Given the description of an element on the screen output the (x, y) to click on. 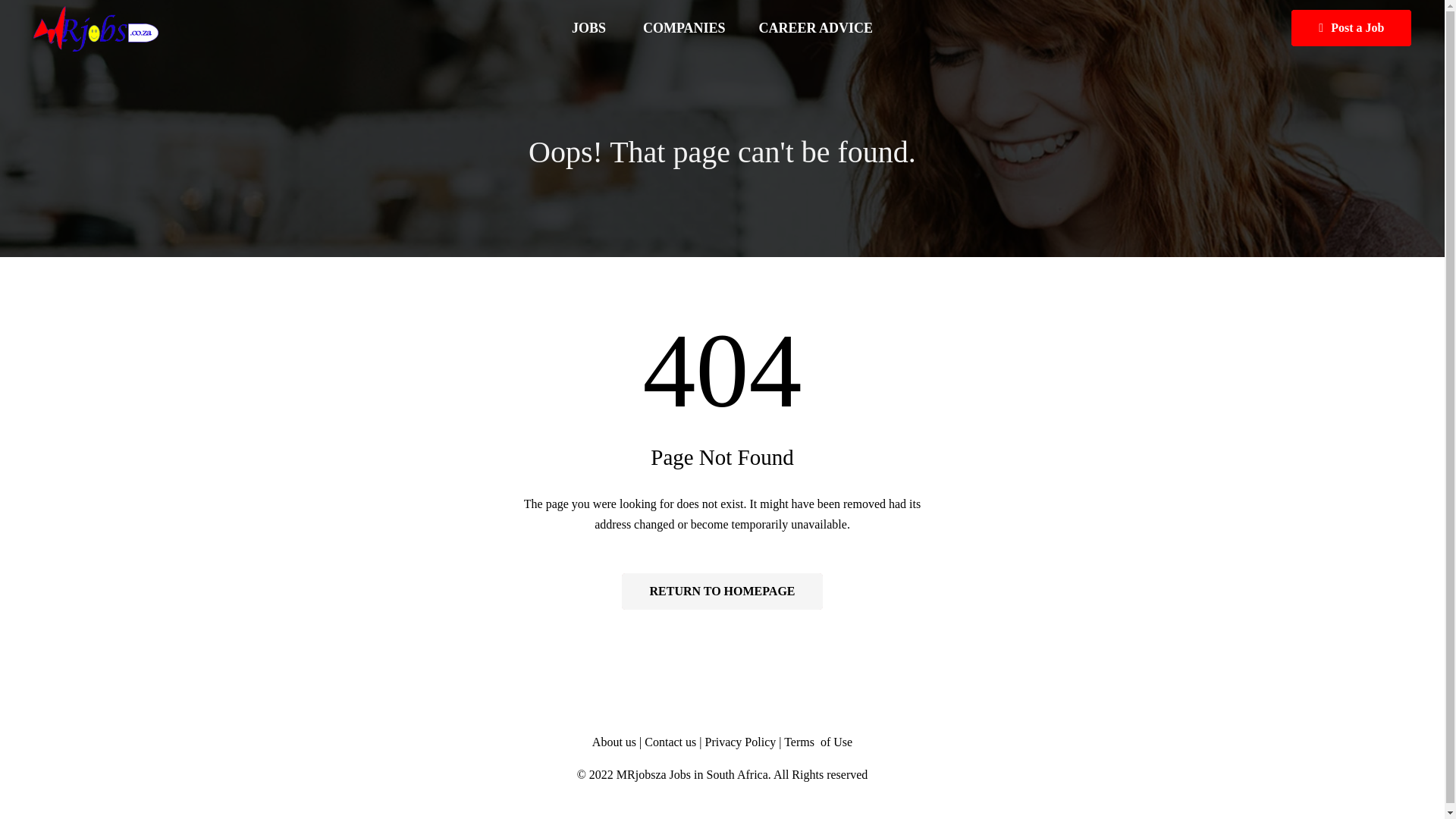
JOBS (590, 27)
Privacy Policy (740, 741)
CAREER ADVICE (816, 27)
Post a Job (1350, 27)
Contact us (671, 741)
COMPANIES (684, 27)
About us (614, 741)
Terms  of Use (817, 741)
Home Page (721, 591)
RETURN TO HOMEPAGE (721, 591)
